Given the description of an element on the screen output the (x, y) to click on. 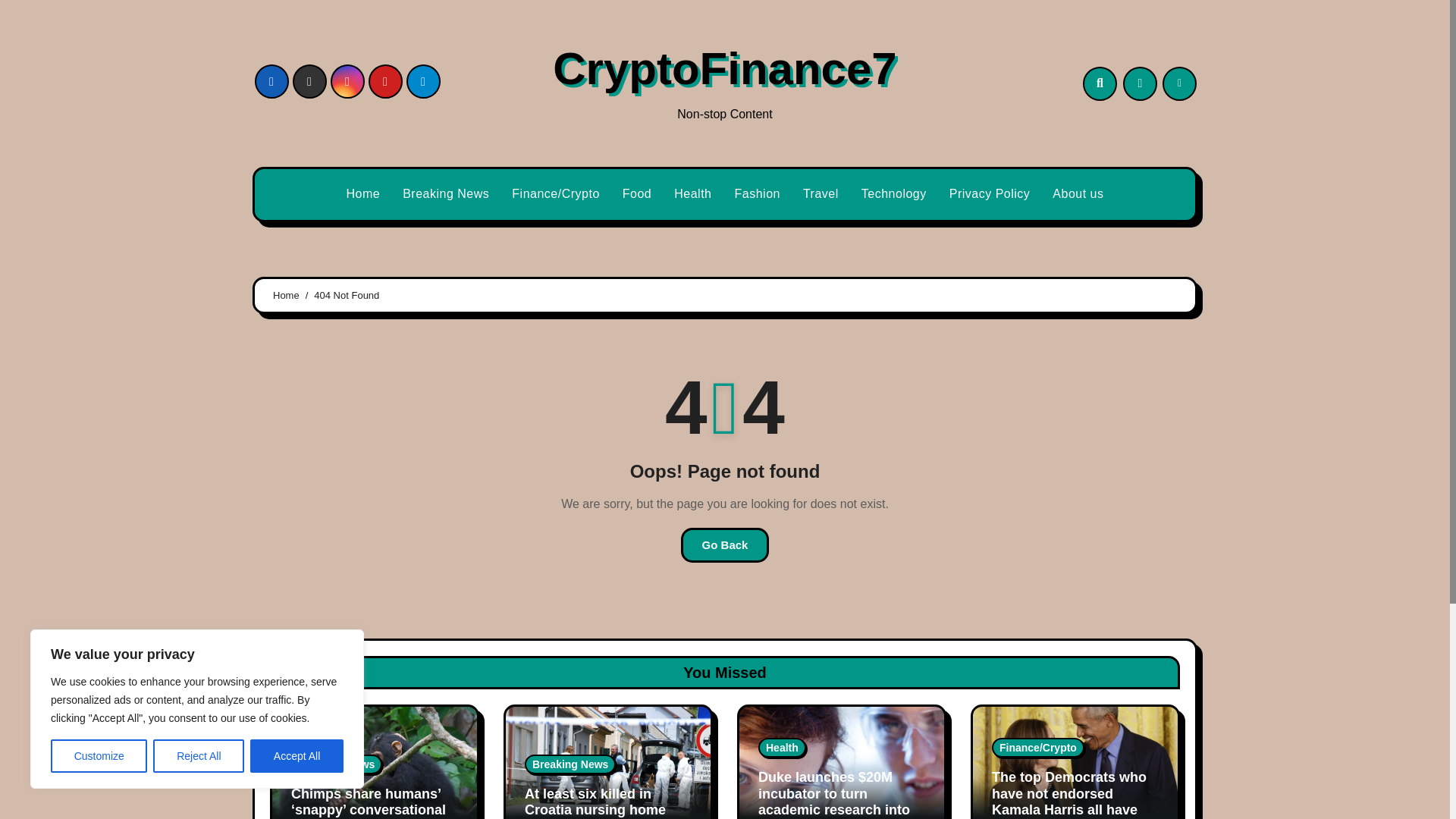
About us (1078, 194)
Accept All (296, 756)
Customize (98, 756)
Travel (821, 194)
Food (636, 194)
Home (362, 194)
Go Back (725, 544)
CryptoFinance7 (724, 68)
Home (362, 194)
Travel (821, 194)
Breaking News (336, 763)
Fashion (757, 194)
Breaking News (445, 194)
Privacy Policy (989, 194)
